Given the description of an element on the screen output the (x, y) to click on. 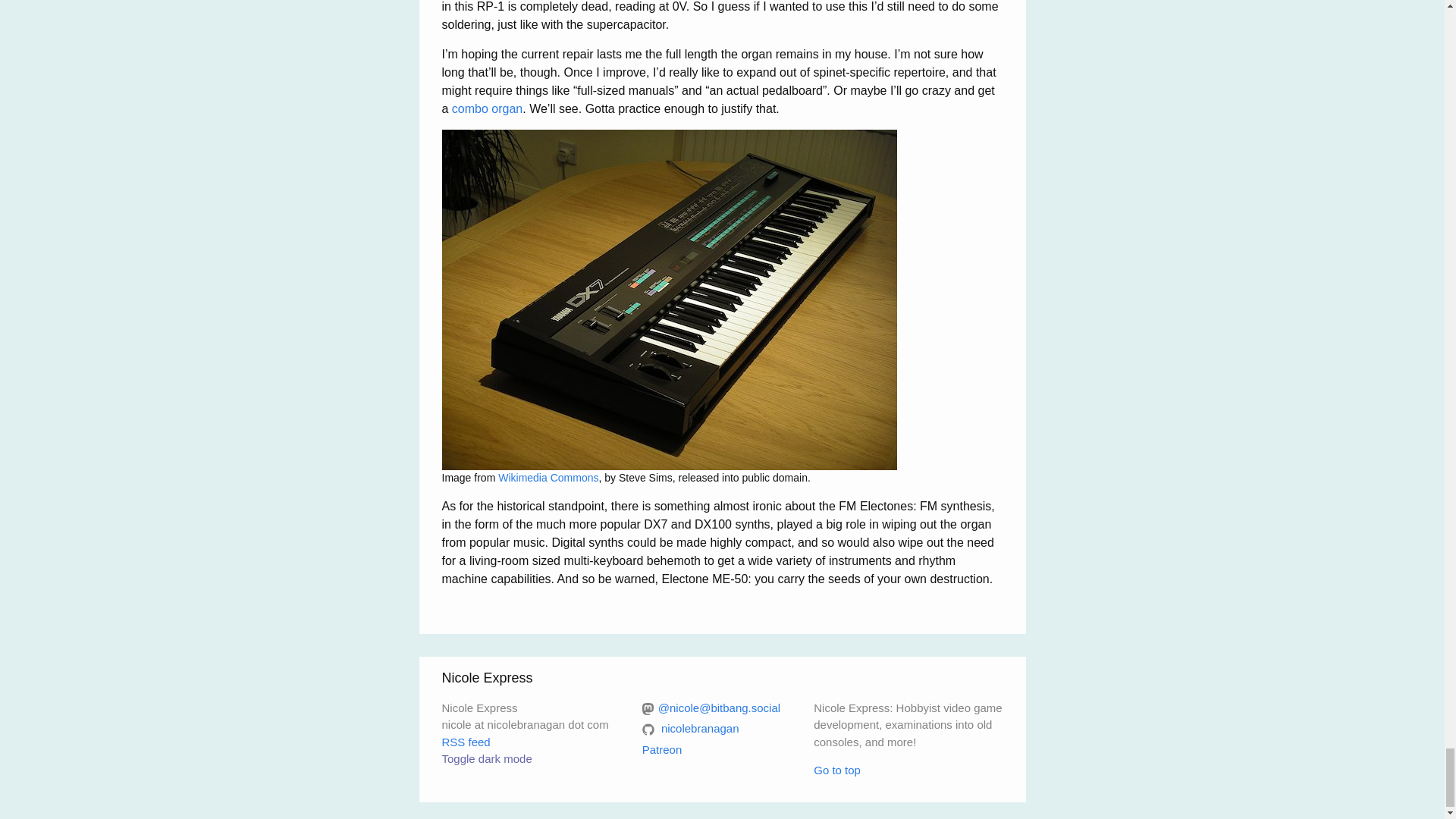
Patreon (662, 748)
nicolebranagan (690, 727)
Wikimedia Commons (547, 477)
RSS feed (465, 741)
Go to top (836, 769)
combo organ (486, 108)
